Given the description of an element on the screen output the (x, y) to click on. 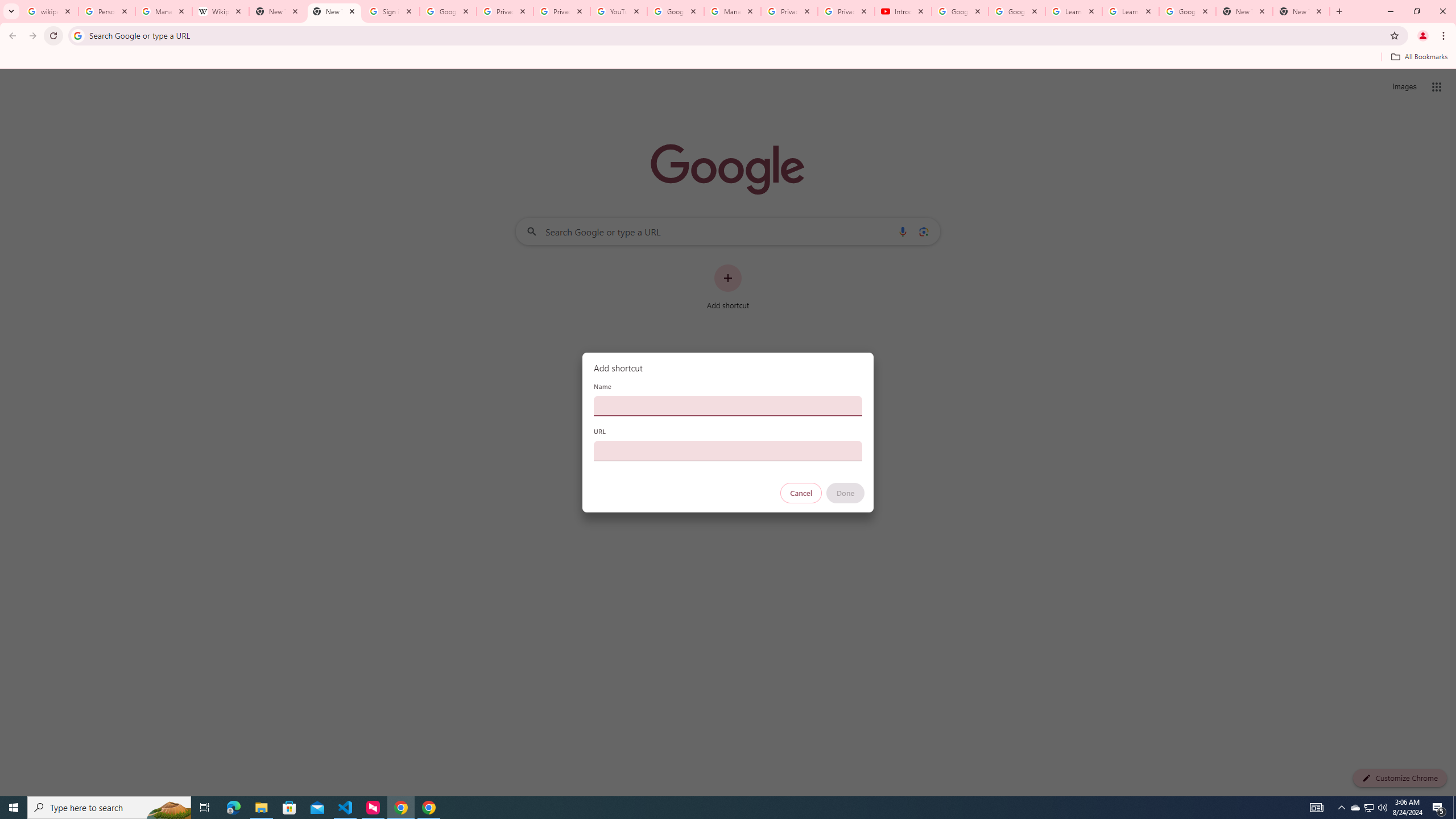
Done (845, 493)
Sign in - Google Accounts (391, 11)
Manage your Location History - Google Search Help (163, 11)
Search icon (77, 35)
Introduction | Google Privacy Policy - YouTube (902, 11)
New Tab (1244, 11)
New Tab (334, 11)
